Given the description of an element on the screen output the (x, y) to click on. 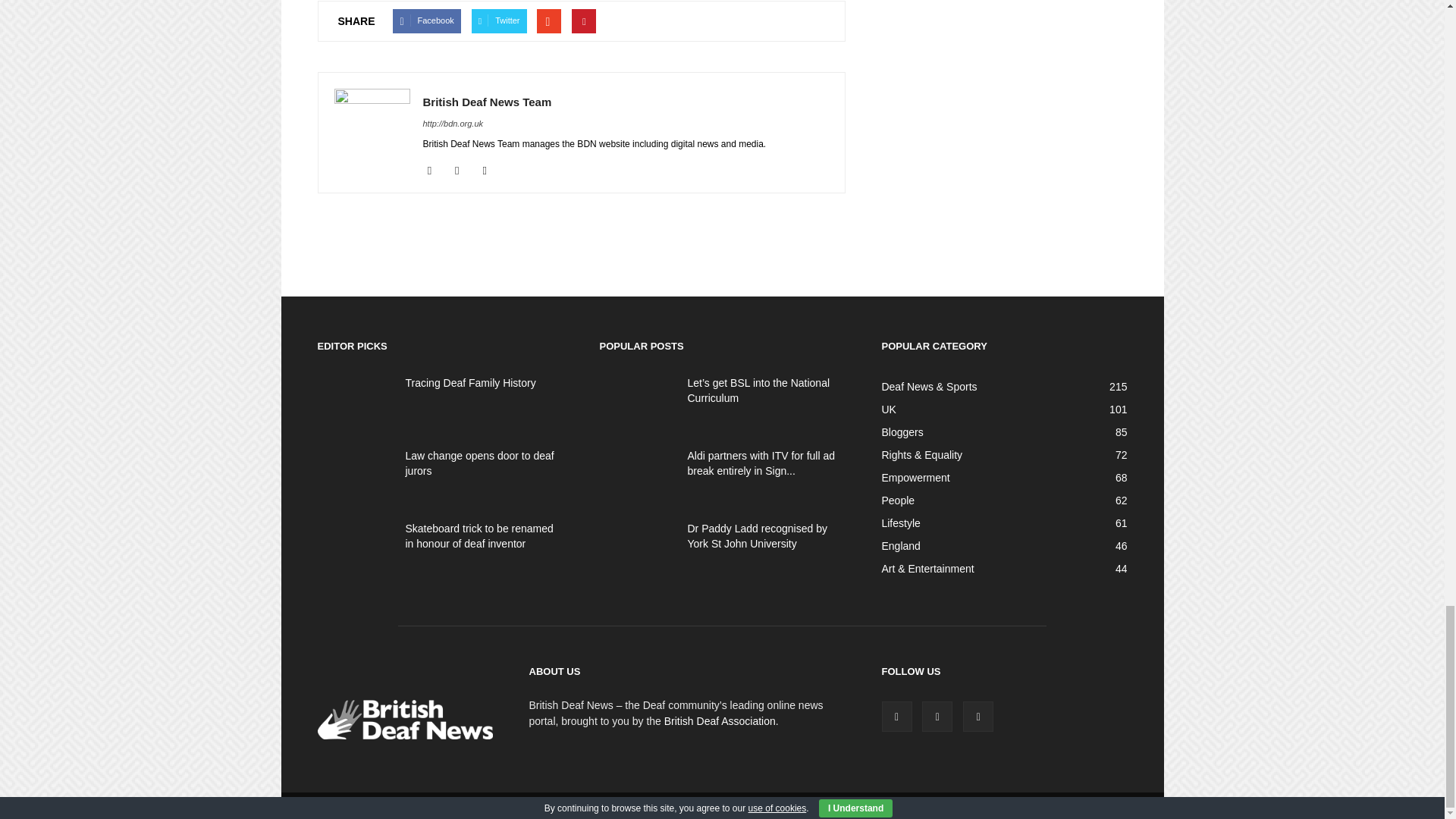
Twitter (489, 170)
Tracing Deaf Family History (355, 401)
Tracing Deaf Family History (469, 382)
Facebook (435, 170)
Instagram (462, 170)
